Given the description of an element on the screen output the (x, y) to click on. 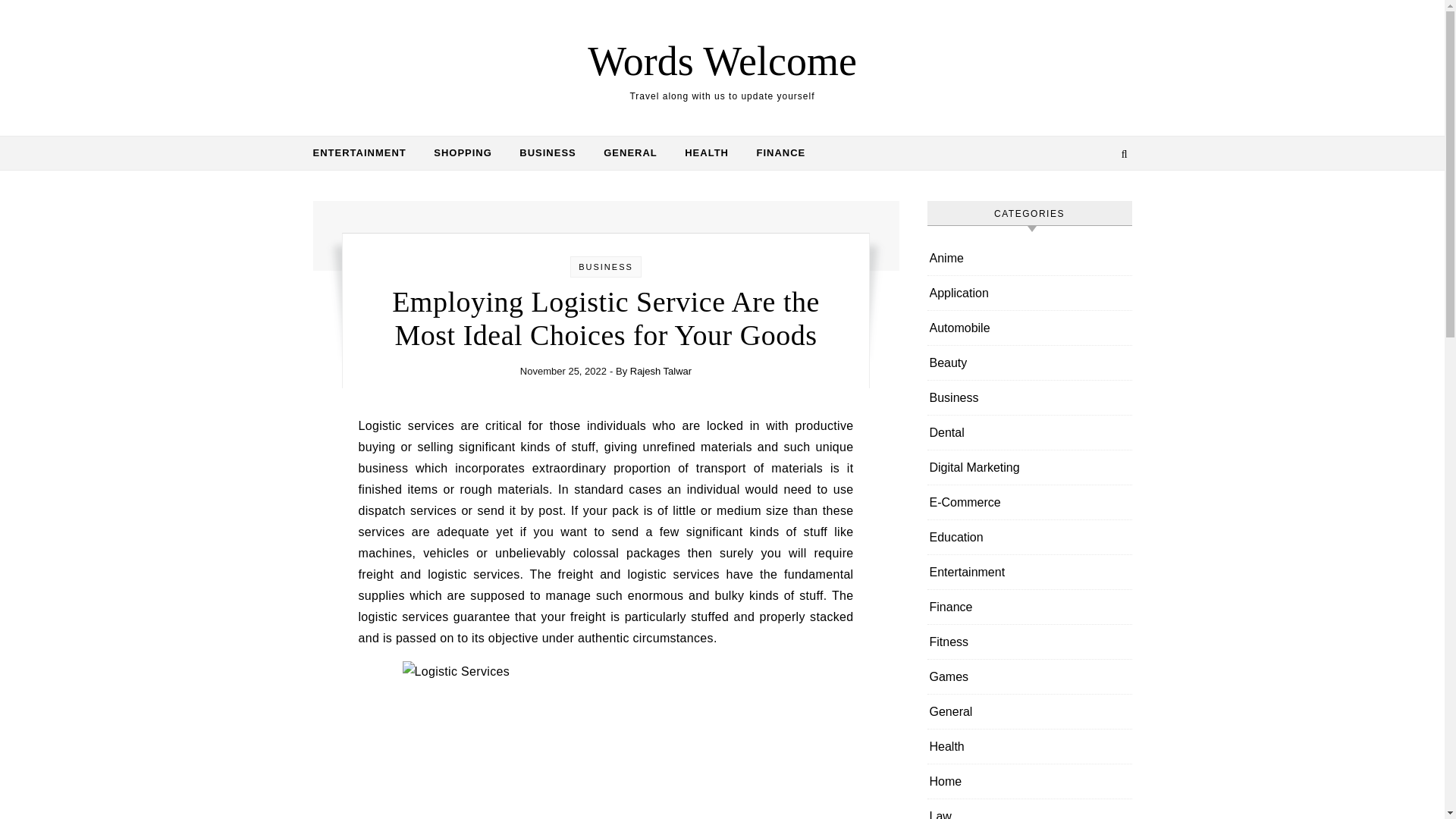
Fitness (949, 641)
Business (954, 397)
HEALTH (706, 152)
Education (957, 537)
Finance (951, 606)
Application (959, 293)
E-Commerce (965, 502)
ENTERTAINMENT (365, 152)
BUSINESS (605, 266)
FINANCE (774, 152)
Beauty (949, 362)
Health (946, 746)
Words Welcome (721, 61)
BUSINESS (547, 152)
Digital Marketing (975, 467)
